Given the description of an element on the screen output the (x, y) to click on. 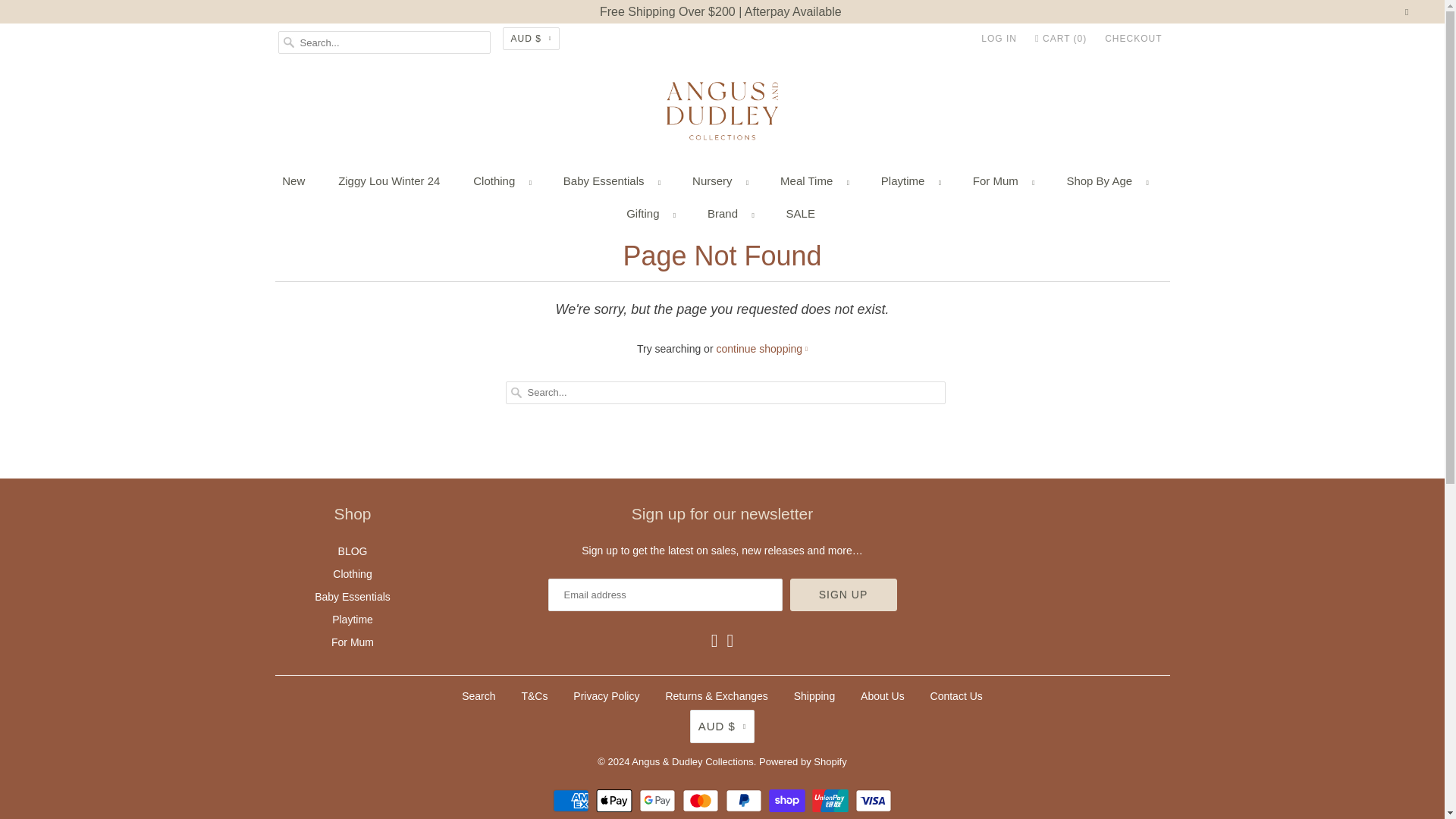
Union Pay (831, 800)
Apple Pay (615, 800)
Sign Up (843, 594)
CHECKOUT (1133, 38)
Shop Pay (788, 800)
American Express (572, 800)
LOG IN (998, 38)
Google Pay (659, 800)
Mastercard (702, 800)
Visa (873, 800)
PayPal (745, 800)
